Given the description of an element on the screen output the (x, y) to click on. 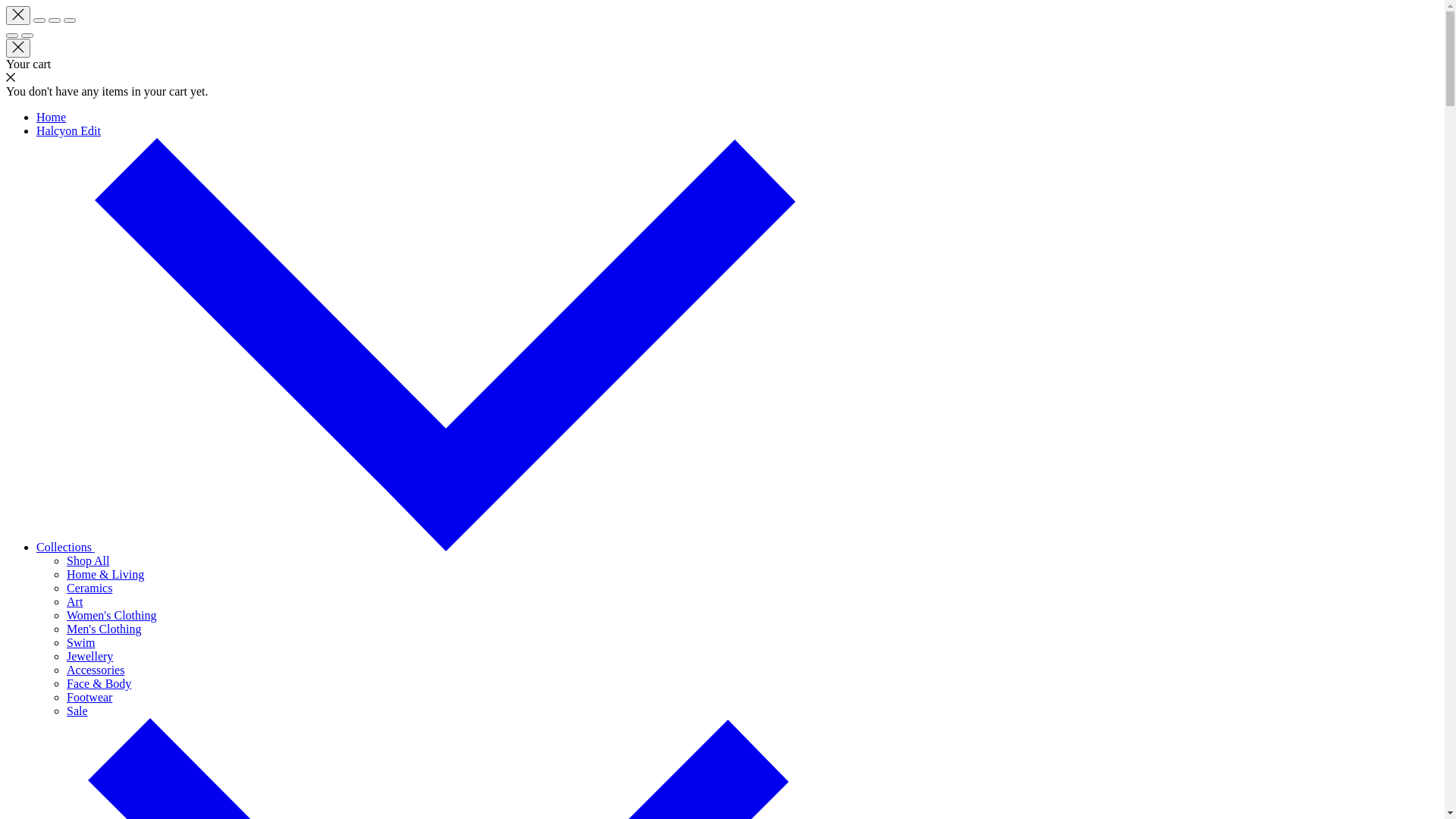
Ceramics Element type: text (89, 587)
Close Thin Icon Element type: text (18, 15)
Face & Body Element type: text (98, 683)
Previous (arrow left) Element type: hover (12, 35)
Art Element type: text (74, 601)
Halcyon Edit Element type: text (68, 130)
Swim Element type: text (80, 642)
Toggle fullscreen Element type: hover (54, 20)
Jewellery Element type: text (89, 655)
Close Thin Icon Element type: text (18, 47)
Men's Clothing Element type: text (103, 628)
Home & Living Element type: text (105, 573)
Collections Down Arrow Icon Element type: text (415, 546)
Shop All Element type: text (87, 560)
Sale Element type: text (76, 710)
Accessories Element type: text (95, 669)
Home Element type: text (50, 116)
Women's Clothing Element type: text (111, 614)
Share Element type: hover (39, 20)
Zoom in/out Element type: hover (69, 20)
Next (arrow right) Element type: hover (27, 35)
Footwear Element type: text (89, 696)
